Given the description of an element on the screen output the (x, y) to click on. 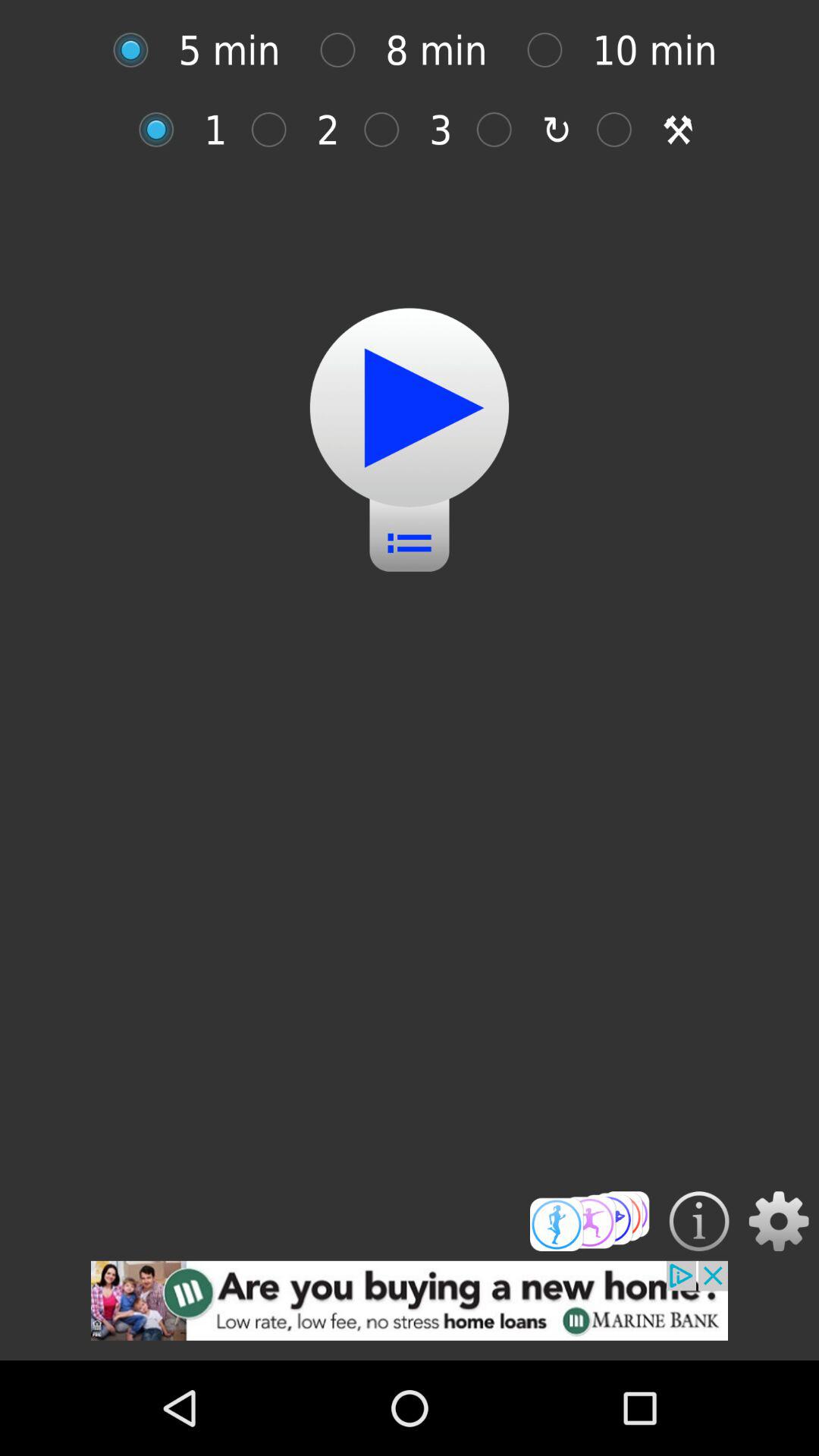
reload (502, 129)
